Given the description of an element on the screen output the (x, y) to click on. 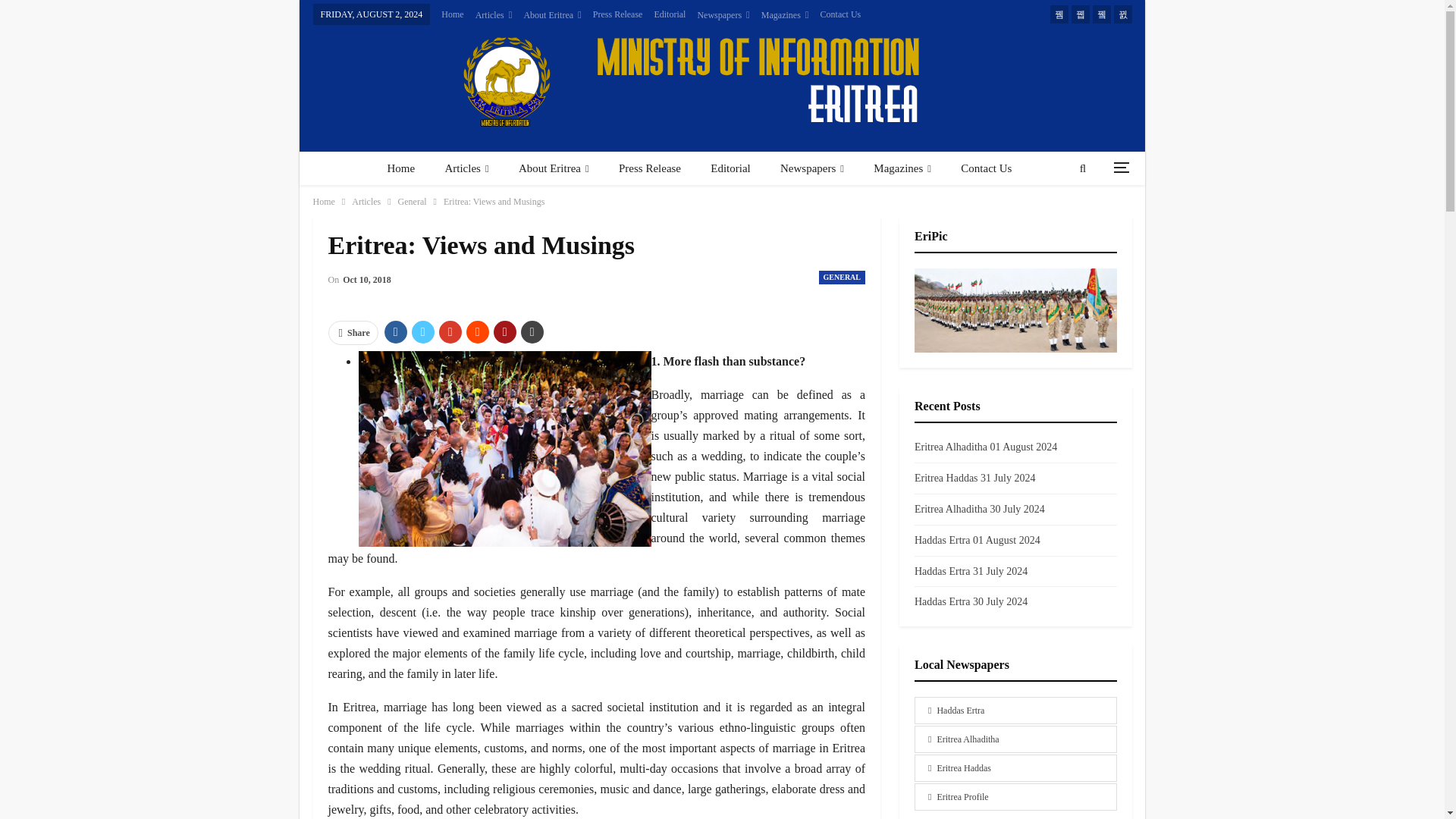
Articles (466, 168)
About Eritrea (551, 14)
Home (400, 168)
Articles (494, 14)
Magazines (785, 14)
Home (452, 14)
Editorial (669, 14)
Press Release (617, 14)
Newspapers (723, 14)
Contact Us (841, 14)
